Given the description of an element on the screen output the (x, y) to click on. 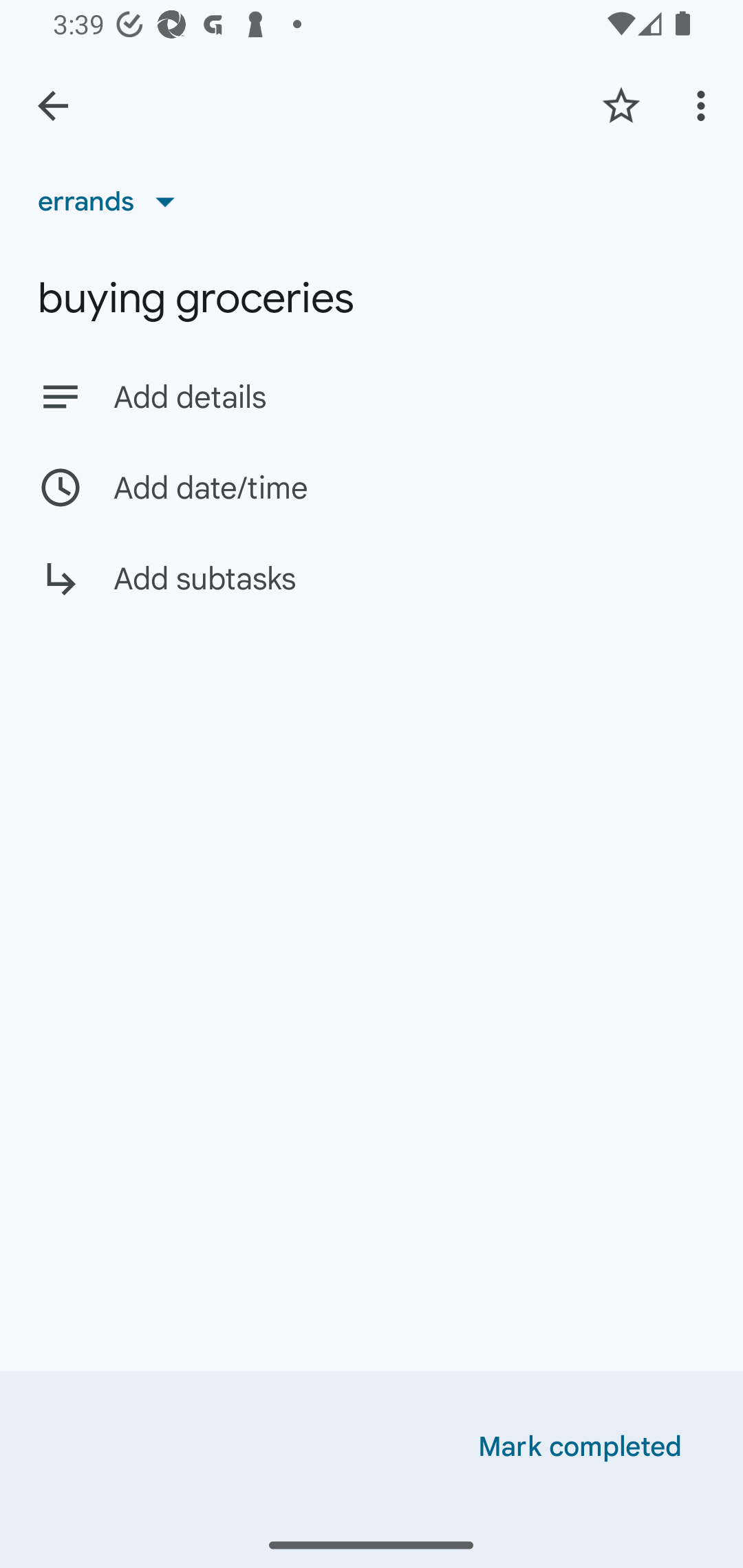
Back (53, 105)
Add star (620, 105)
More options (704, 105)
errands List, errands selected, 1 of 8 (112, 201)
buying groceries (371, 298)
Add details (371, 396)
Add details (409, 397)
Add date/time (371, 487)
Add subtasks (371, 593)
Mark completed (580, 1446)
